Given the description of an element on the screen output the (x, y) to click on. 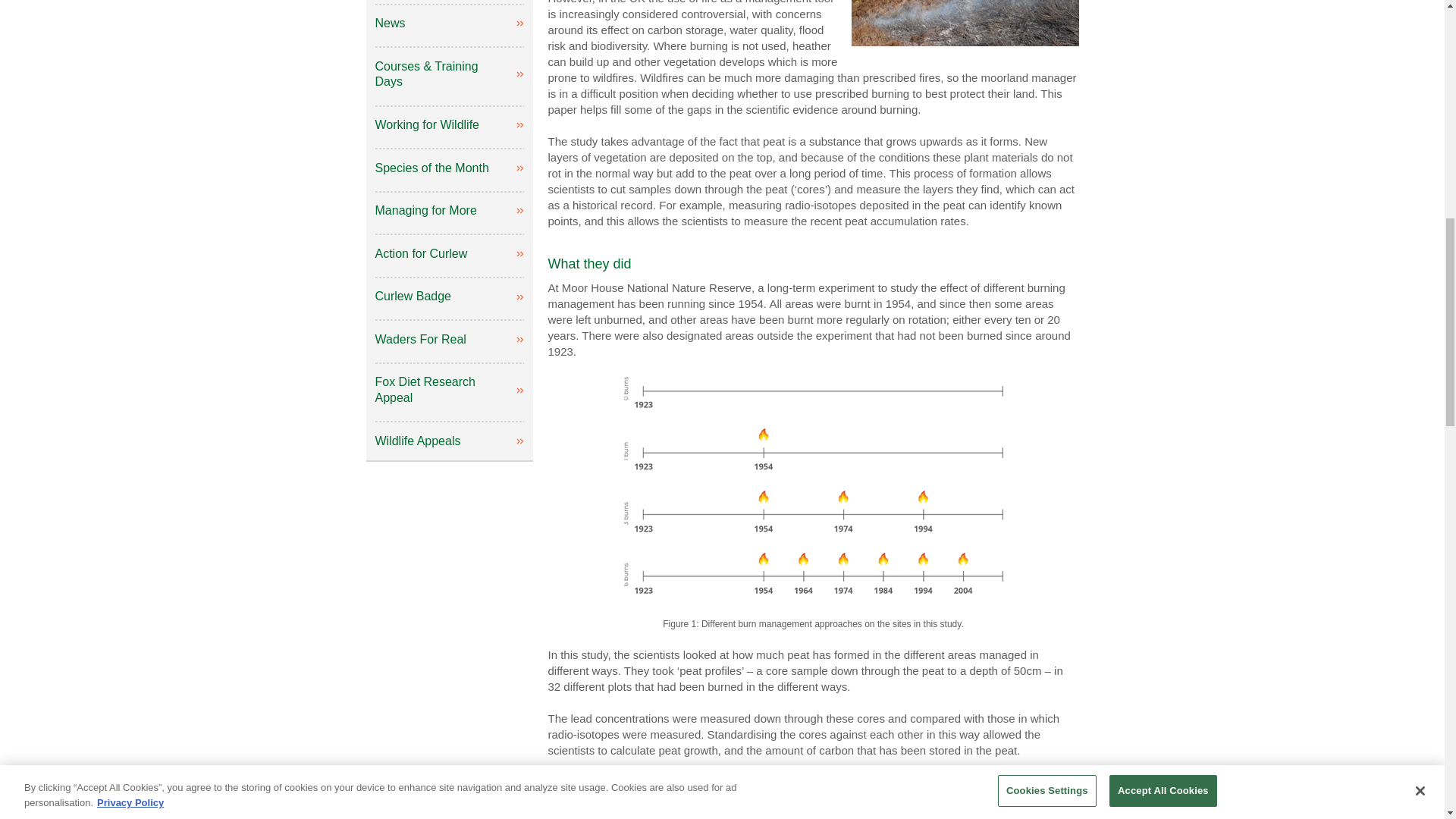
Heather burning in action (964, 22)
